Given the description of an element on the screen output the (x, y) to click on. 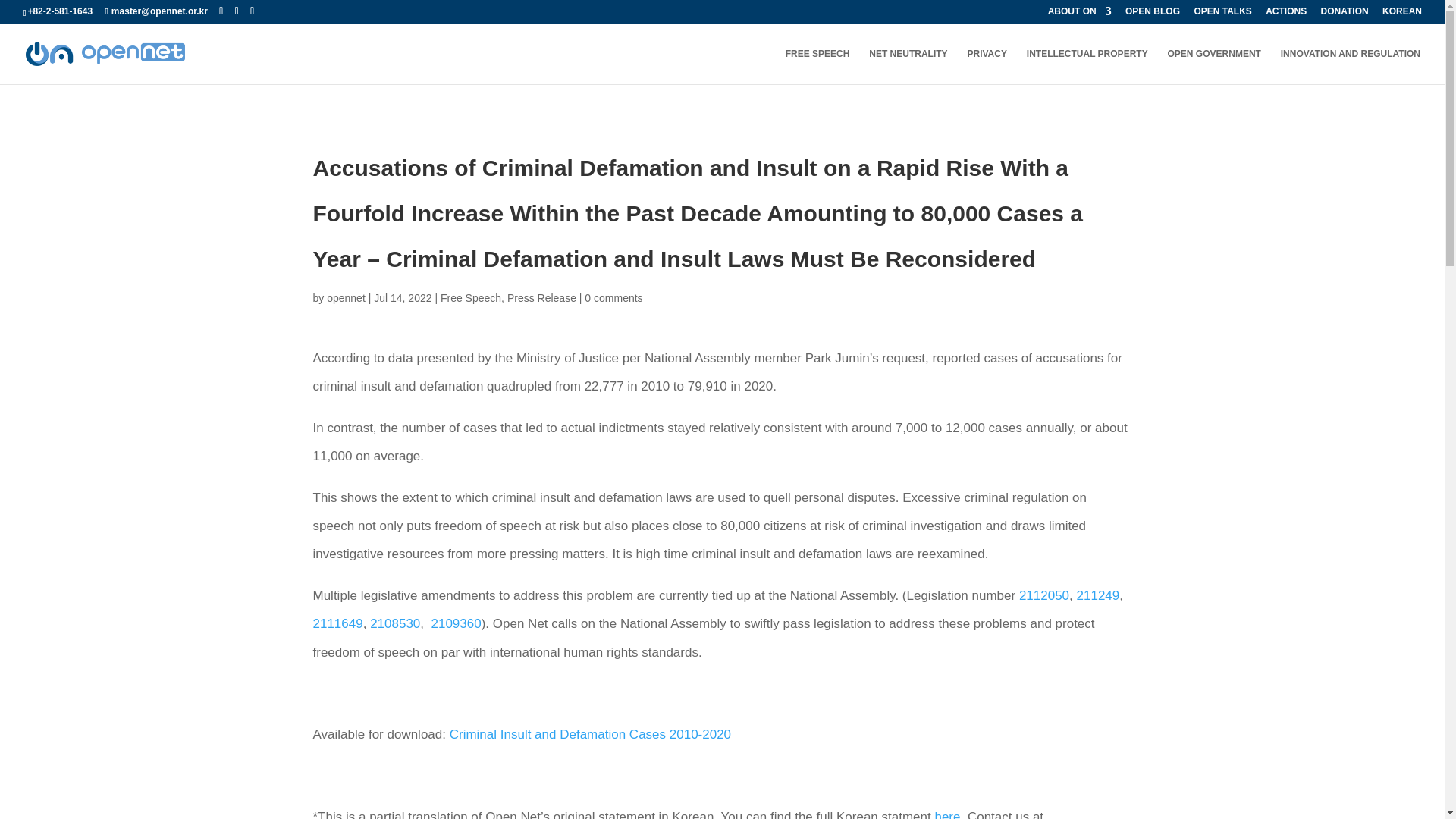
FREE SPEECH (818, 66)
Posts by opennet (345, 297)
KOREAN (1401, 14)
INNOVATION AND REGULATION (1351, 66)
PRIVACY (987, 66)
OPEN GOVERNMENT (1213, 66)
ACTIONS (1285, 14)
INTELLECTUAL PROPERTY (1087, 66)
ABOUT ON (1080, 14)
OPEN TALKS (1221, 14)
NET NEUTRALITY (908, 66)
OPEN BLOG (1152, 14)
DONATION (1344, 14)
